Given the description of an element on the screen output the (x, y) to click on. 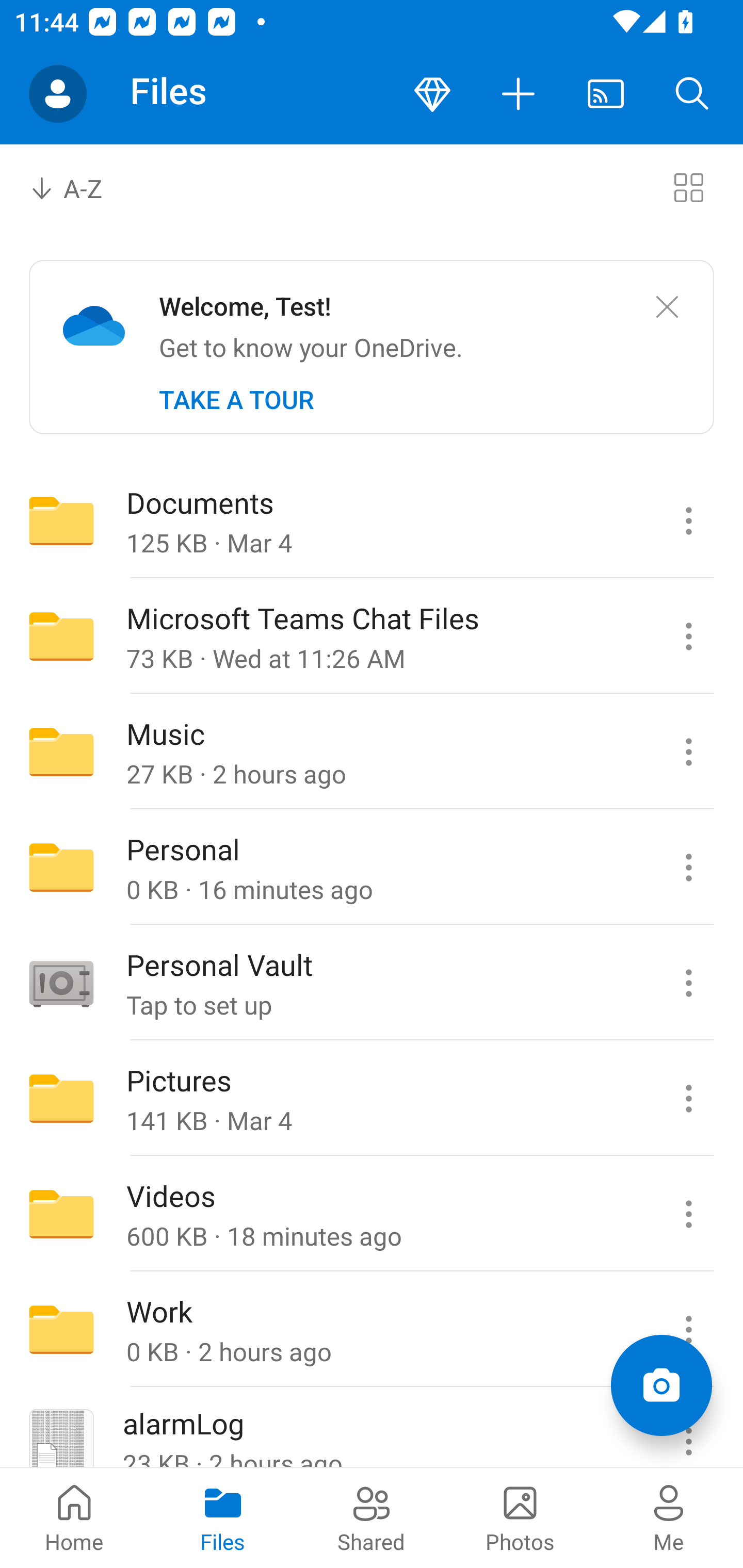
Account switcher (57, 93)
Cast. Disconnected (605, 93)
Premium button (432, 93)
More actions button (518, 93)
Search button (692, 93)
A-Z Sort by combo box, sort by name, A to Z (80, 187)
Switch to tiles view (688, 187)
Close (667, 307)
TAKE A TOUR (236, 399)
Folder Documents 125 KB · Mar 4 Documents commands (371, 520)
Documents commands (688, 520)
Microsoft Teams Chat Files commands (688, 636)
Folder Music 27 KB · 2 hours ago Music commands (371, 751)
Music commands (688, 751)
Personal commands (688, 867)
Personal Vault commands (688, 983)
Folder Pictures 141 KB · Mar 4 Pictures commands (371, 1099)
Pictures commands (688, 1099)
Videos commands (688, 1214)
Folder Work 0 KB · 2 hours ago Work commands (371, 1329)
Work commands (688, 1329)
Add items Scan (660, 1385)
alarmLog commands (688, 1427)
Home pivot Home (74, 1517)
Shared pivot Shared (371, 1517)
Photos pivot Photos (519, 1517)
Me pivot Me (668, 1517)
